Given the description of an element on the screen output the (x, y) to click on. 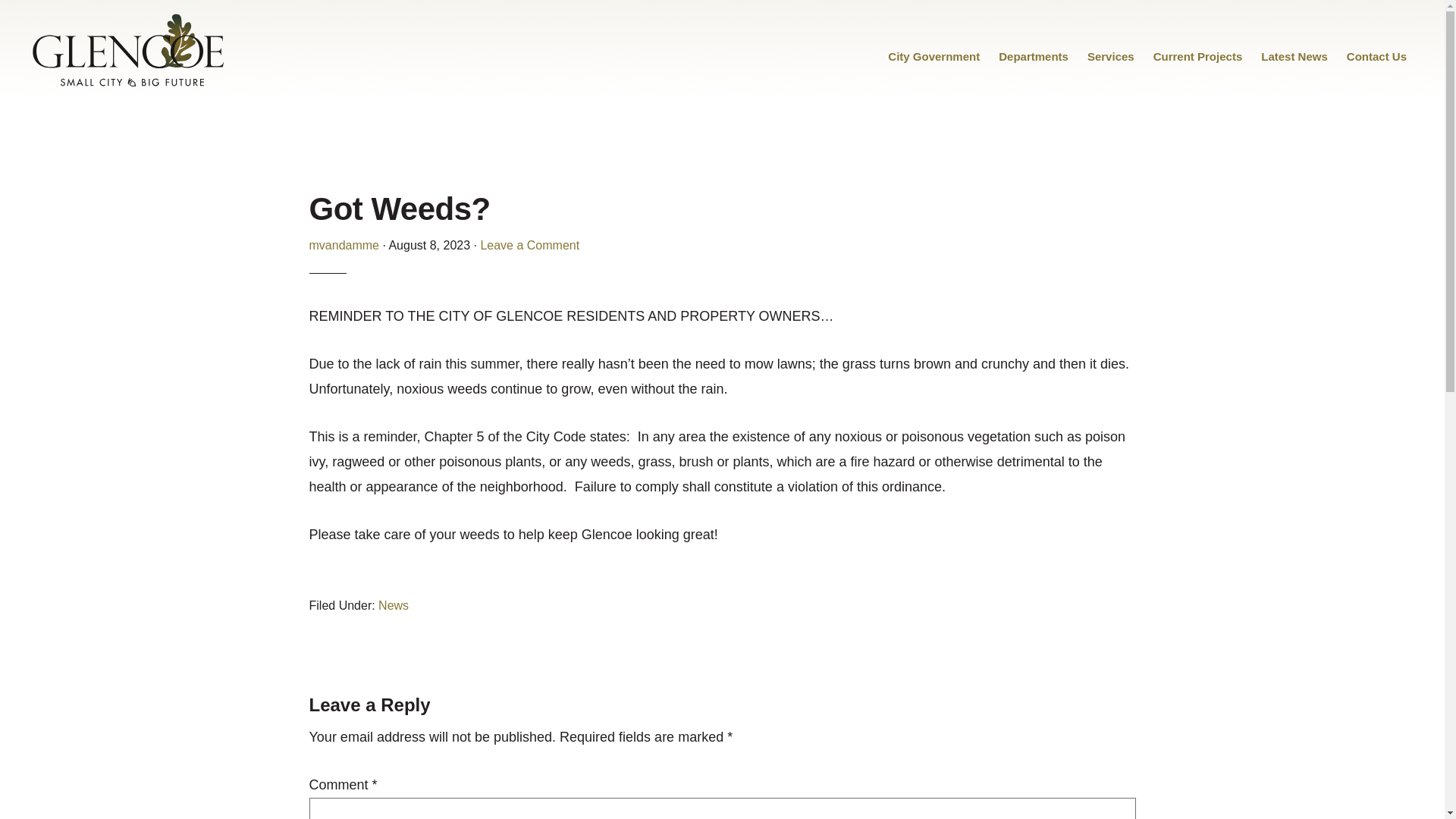
City Government (933, 56)
CITY OF GLENCOE (129, 50)
Current Projects (1197, 56)
Services (1110, 56)
Latest News (1294, 56)
Departments (1033, 56)
